Given the description of an element on the screen output the (x, y) to click on. 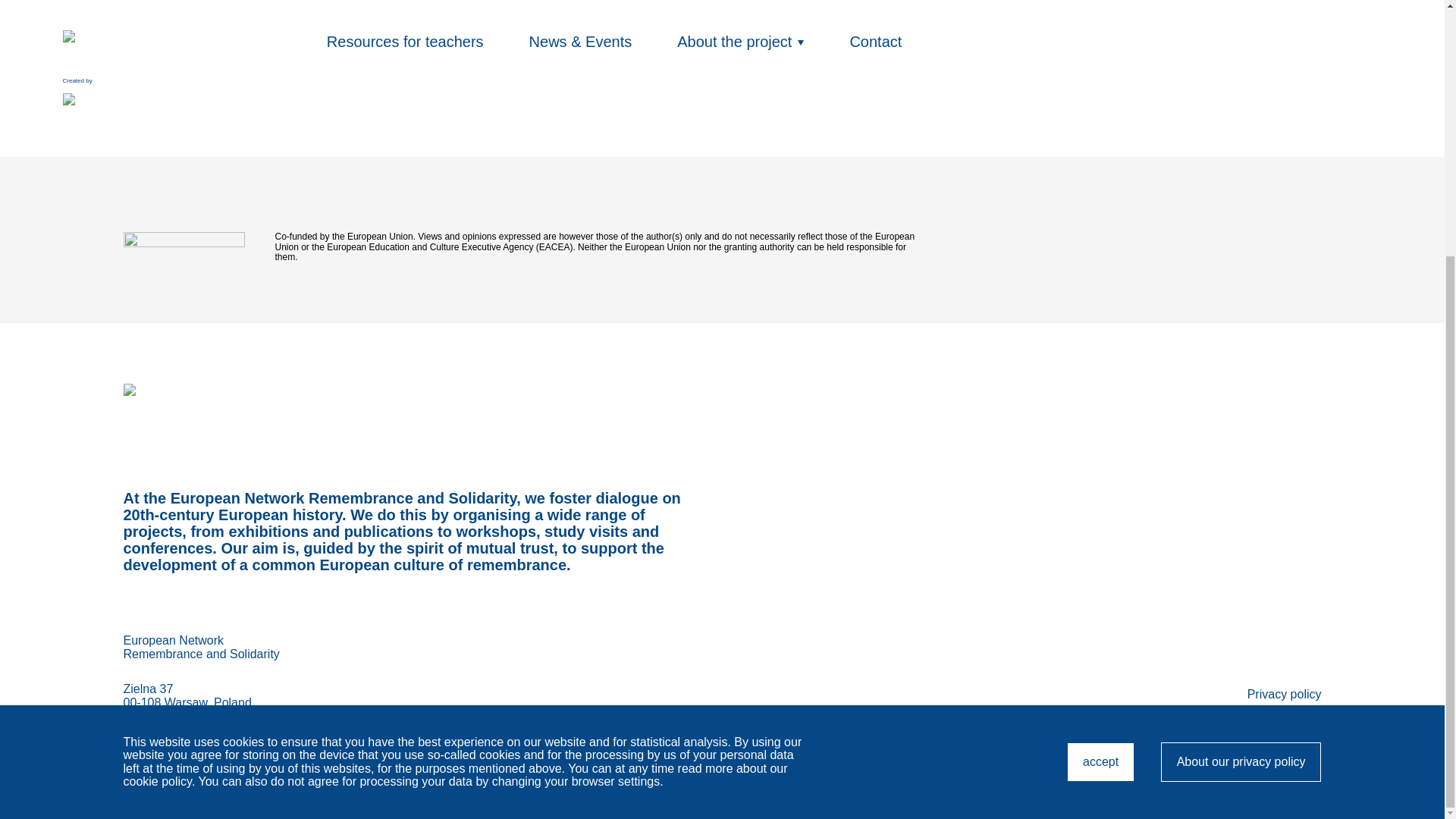
European Network Remembrance and Solidarity (721, 406)
ENRS on youtube (1244, 639)
About our privacy policy (1241, 397)
Newsletter (1292, 750)
Accessibility Statement (1100, 397)
ENRS on facebook (1259, 722)
Privacy policy (1211, 639)
ENRS on instagram (1284, 694)
